Given the description of an element on the screen output the (x, y) to click on. 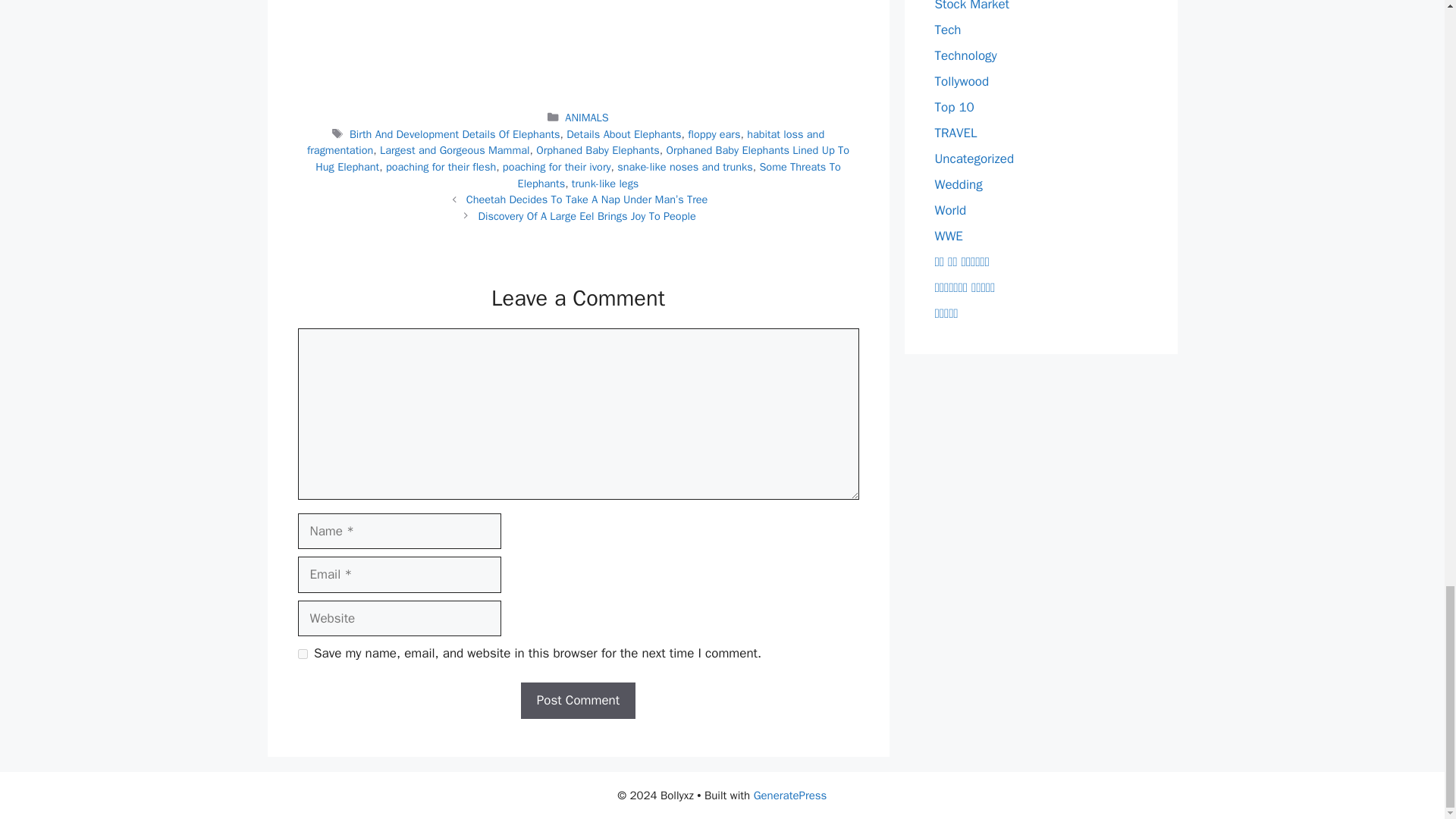
Orphaned Baby Elephants Lined Up To Hug Elephant (581, 158)
trunk-like legs (605, 183)
Largest and Gorgeous Mammal (454, 150)
Some Threats To Elephants (679, 174)
poaching for their flesh (440, 166)
Birth And Development Details Of Elephants (454, 133)
snake-like noses and trunks (684, 166)
Orphaned Baby Elephants (597, 150)
habitat loss and fragmentation (565, 142)
Post Comment (577, 700)
poaching for their ivory (556, 166)
Post Comment (577, 700)
yes (302, 654)
Details About Elephants (623, 133)
floppy ears (713, 133)
